Given the description of an element on the screen output the (x, y) to click on. 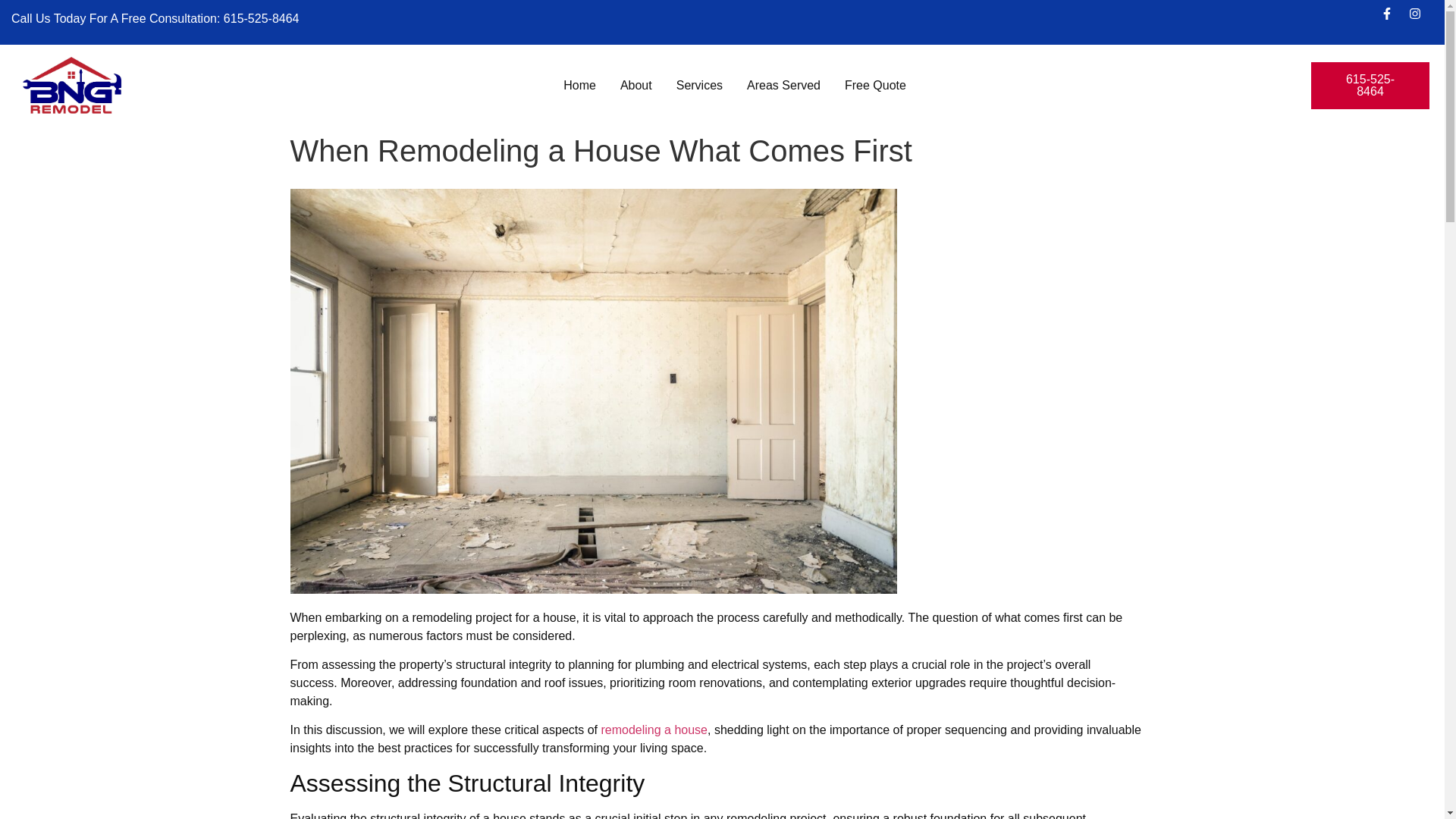
About (636, 85)
Free Quote (874, 85)
Home (579, 85)
Areas Served (783, 85)
Services (699, 85)
615-525-8464 (261, 18)
